Given the description of an element on the screen output the (x, y) to click on. 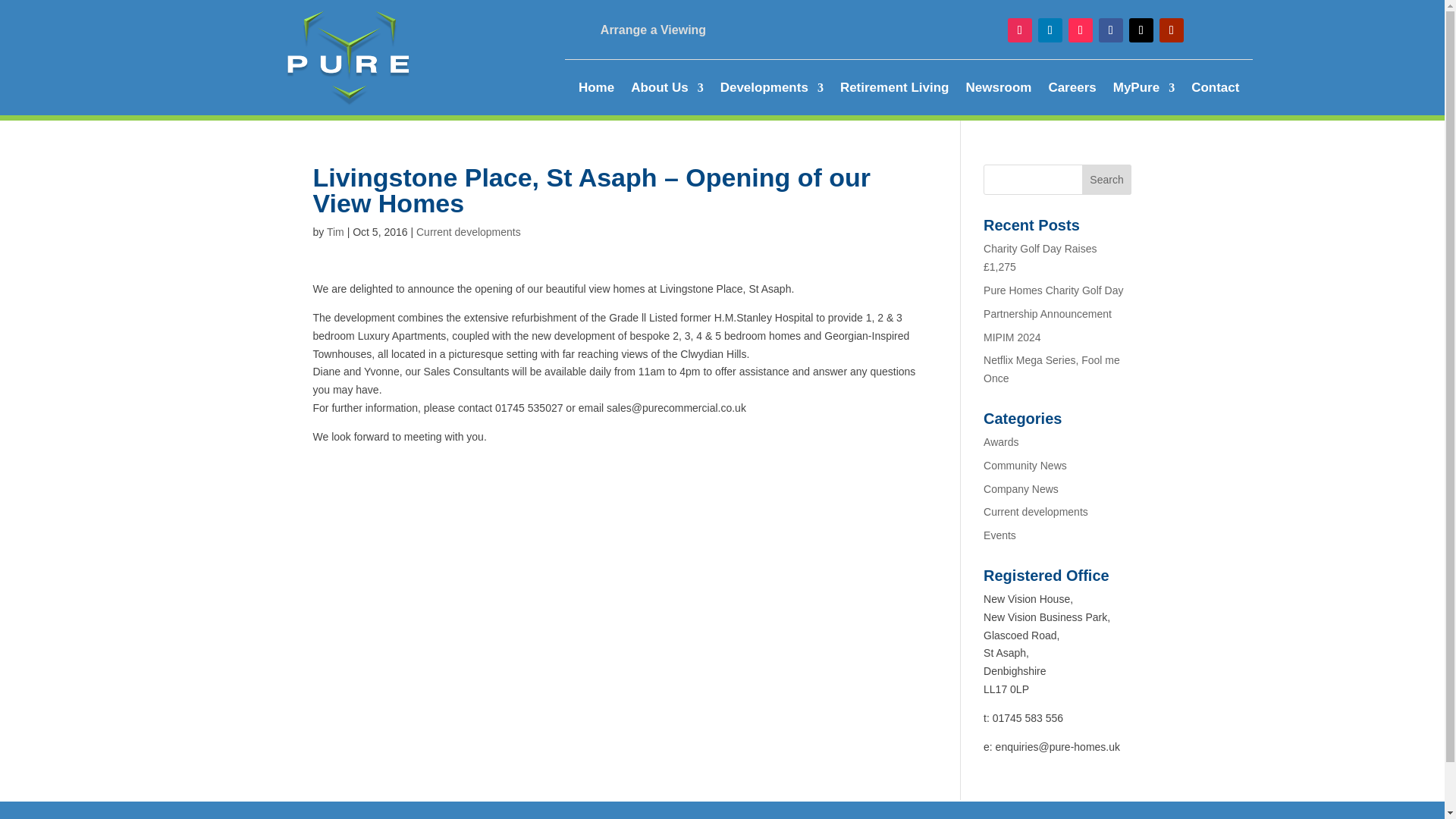
Retirement Living (894, 90)
Follow on Youtube (1170, 30)
About Us (666, 90)
Follow on X (1141, 30)
Home (596, 90)
Follow on Facebook (1110, 30)
Newsroom (997, 90)
Search (1106, 179)
Follow on Instagram (1019, 30)
Developments (772, 90)
